Given the description of an element on the screen output the (x, y) to click on. 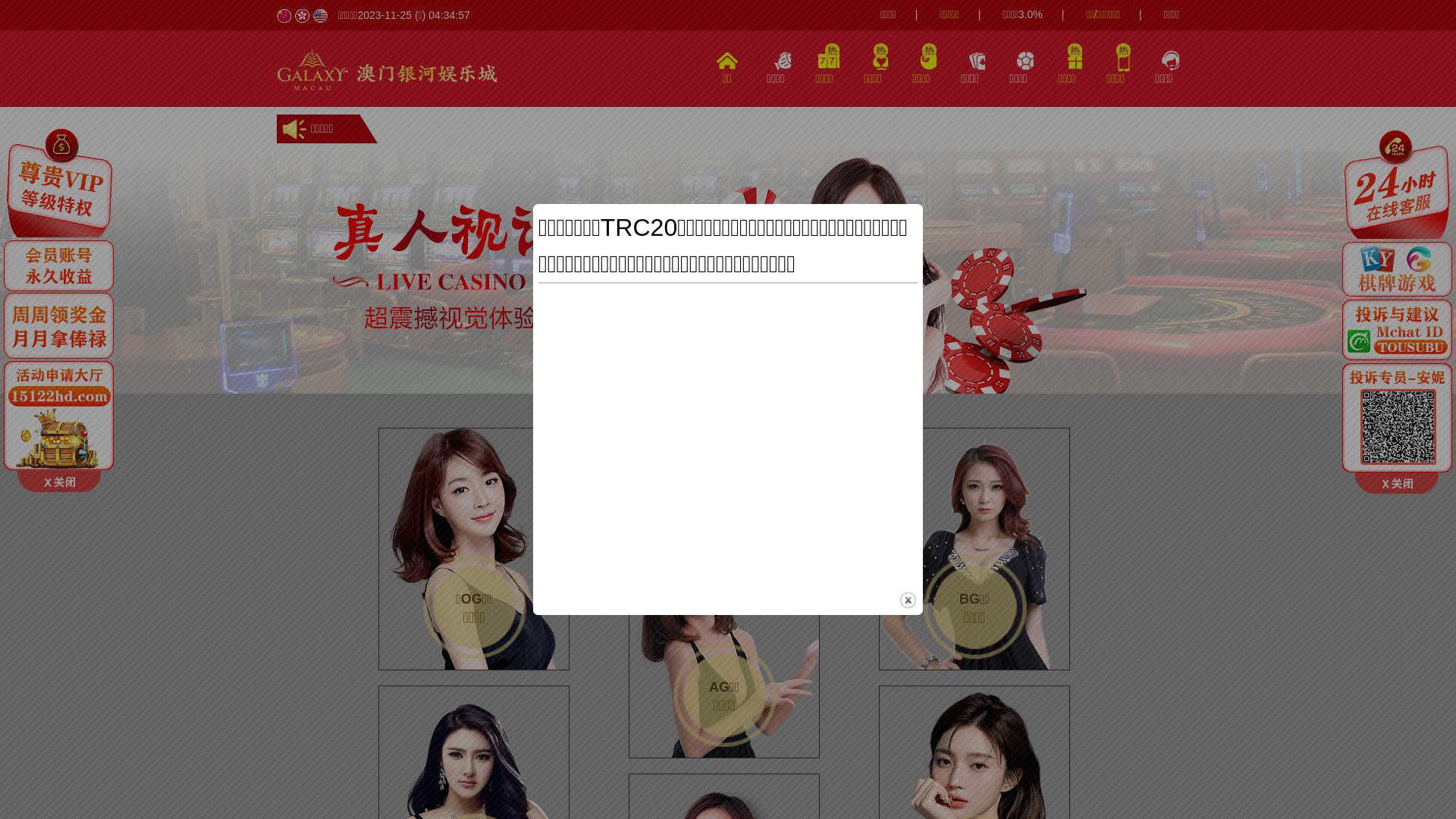
close Element type: text (907, 599)
